Given the description of an element on the screen output the (x, y) to click on. 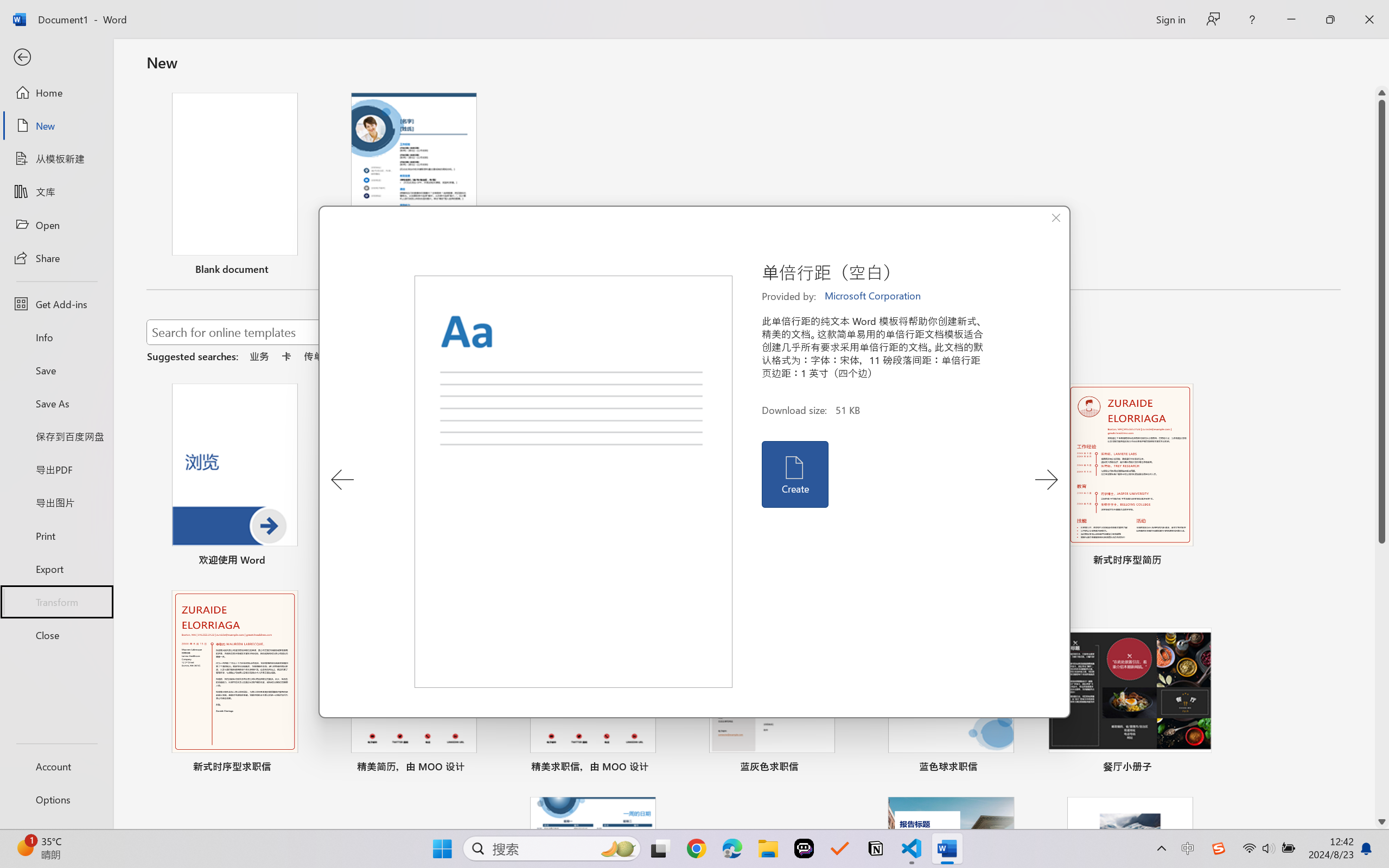
Create (794, 473)
Back (56, 57)
Next Template (1046, 479)
Get Add-ins (56, 303)
Preview (573, 481)
